Given the description of an element on the screen output the (x, y) to click on. 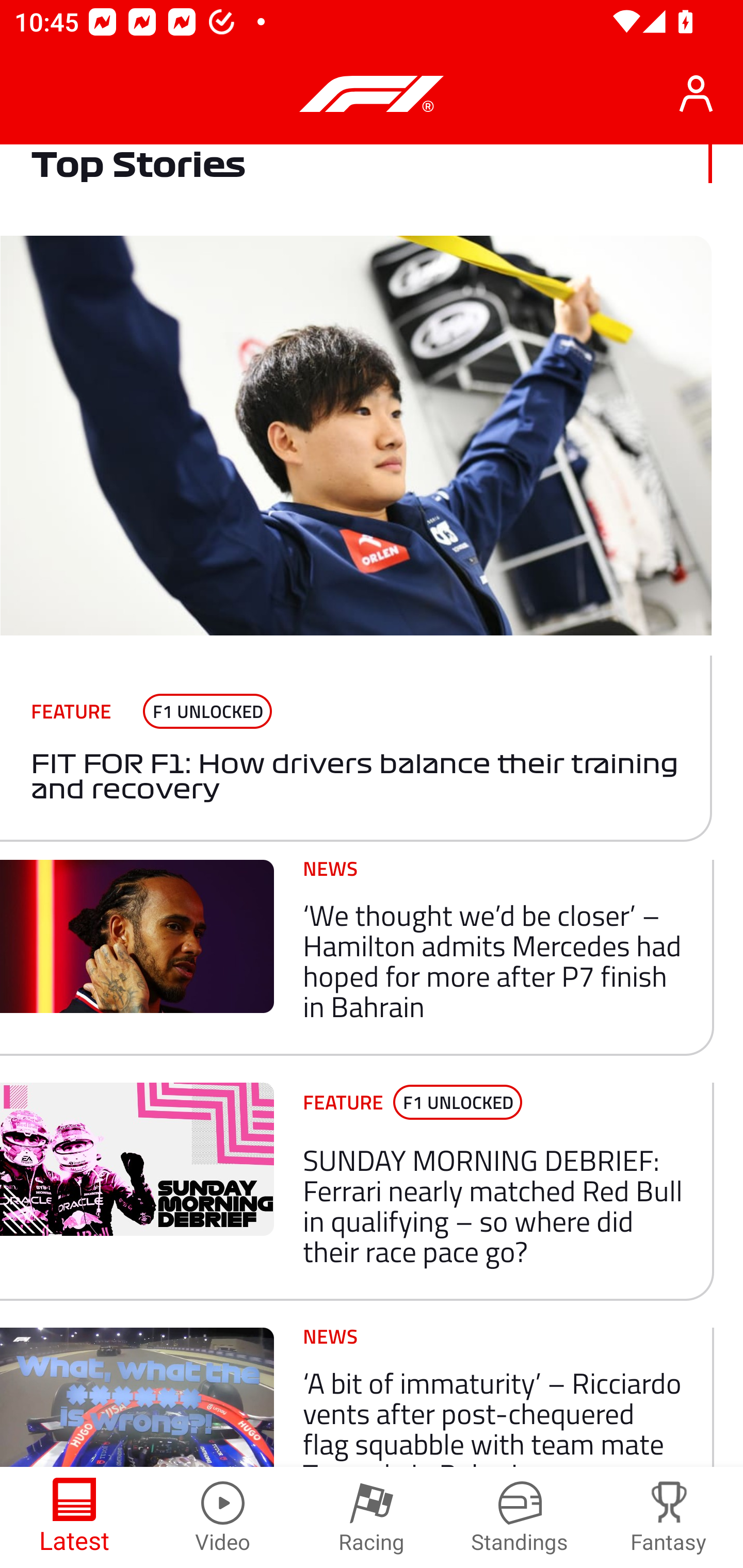
Video (222, 1517)
Racing (371, 1517)
Standings (519, 1517)
Fantasy (668, 1517)
